Given the description of an element on the screen output the (x, y) to click on. 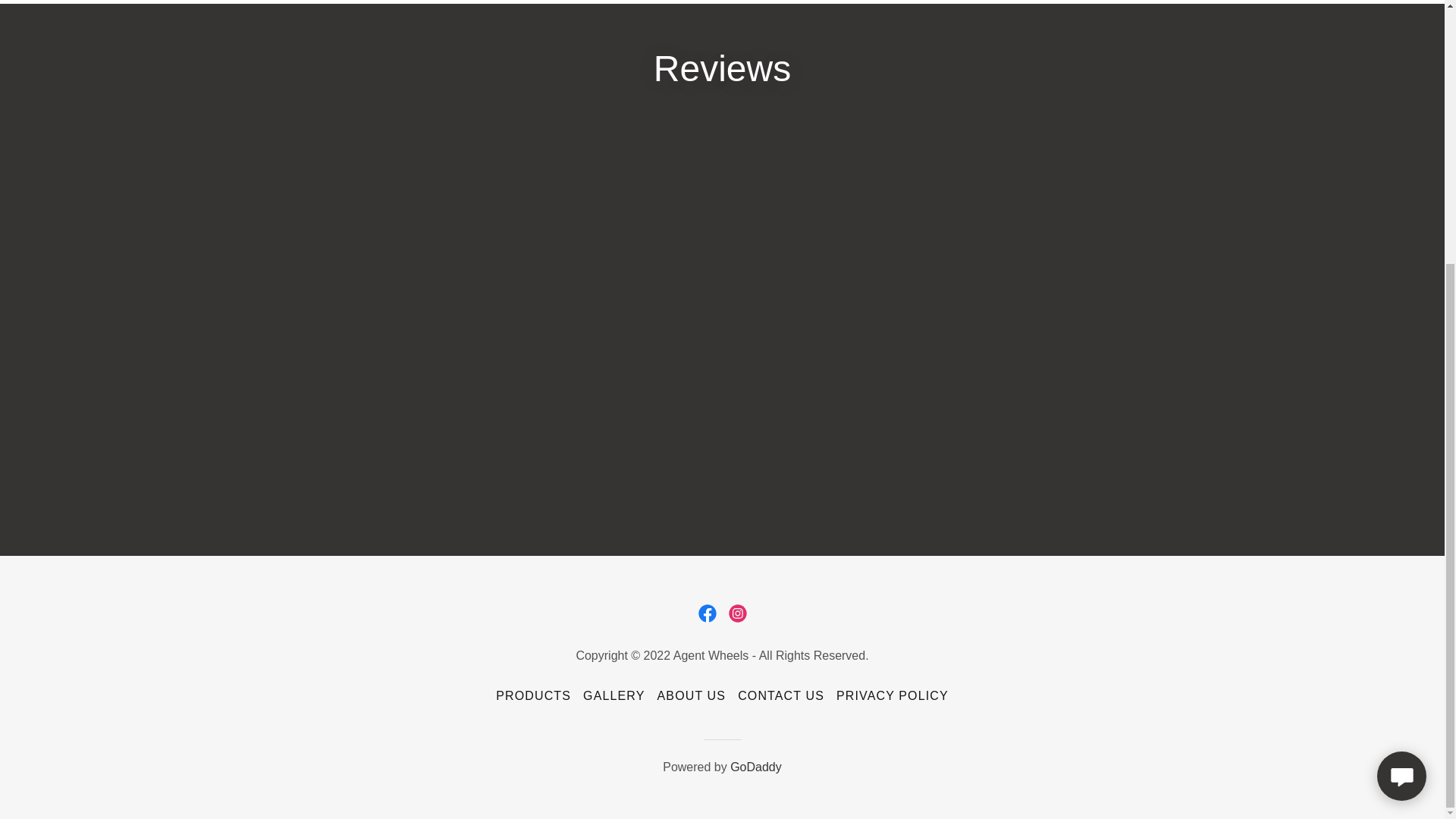
CONTACT US (780, 696)
ABOUT US (691, 696)
PRODUCTS (532, 696)
GALLERY (613, 696)
